Given the description of an element on the screen output the (x, y) to click on. 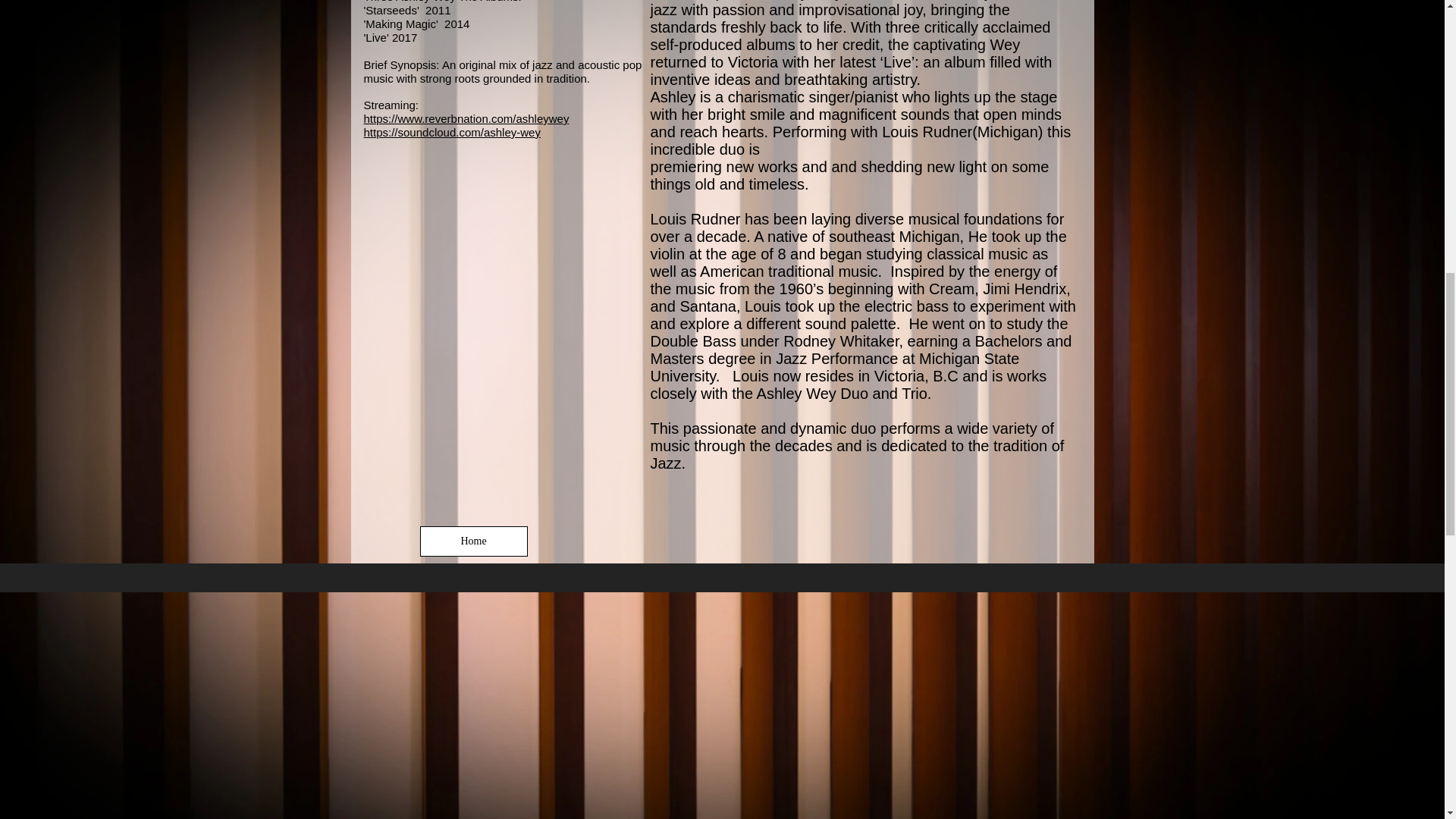
External YouTube (488, 386)
Home (473, 541)
